Given the description of an element on the screen output the (x, y) to click on. 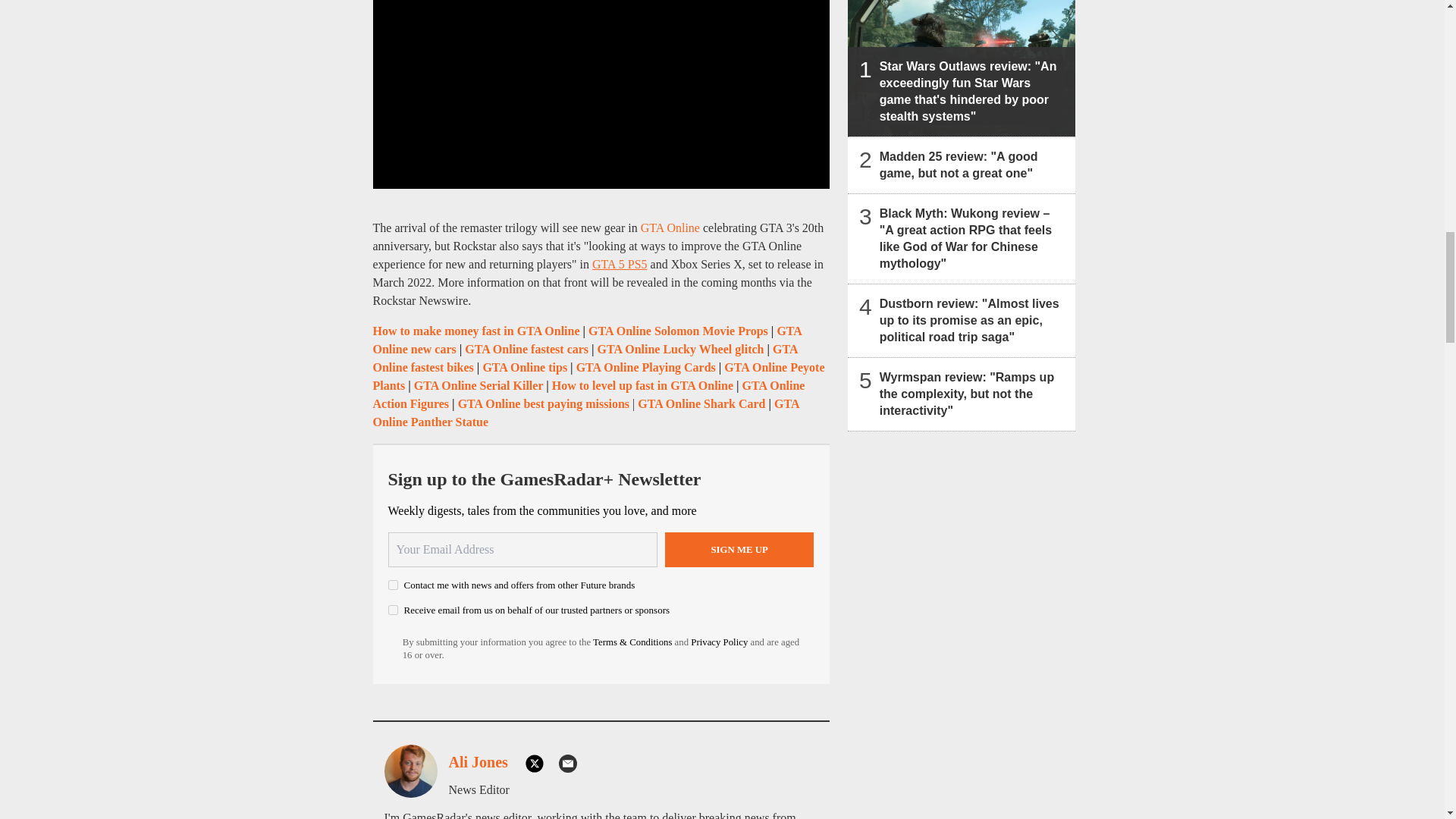
on (392, 610)
Sign me up (739, 549)
on (392, 584)
